Given the description of an element on the screen output the (x, y) to click on. 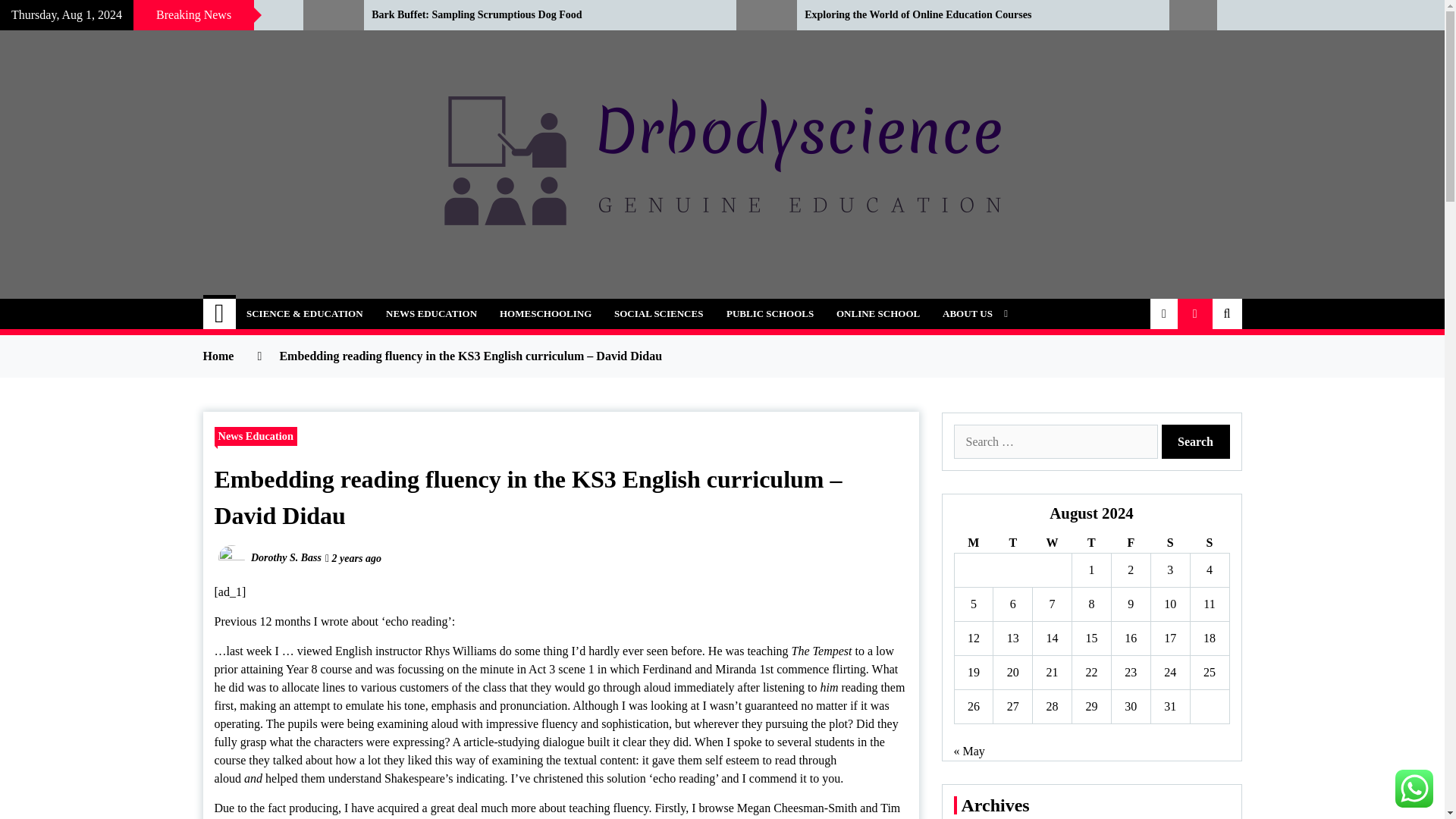
Exploring the World of Online Education Courses (976, 15)
Wednesday (1051, 543)
Bark Buffet: Sampling Scrumptious Dog Food (542, 15)
Home (219, 313)
Monday (972, 543)
Friday (1130, 543)
Saturday (1169, 543)
Thursday (1091, 543)
Tuesday (1012, 543)
Sunday (1208, 543)
Search (1195, 441)
Search (1195, 441)
